Given the description of an element on the screen output the (x, y) to click on. 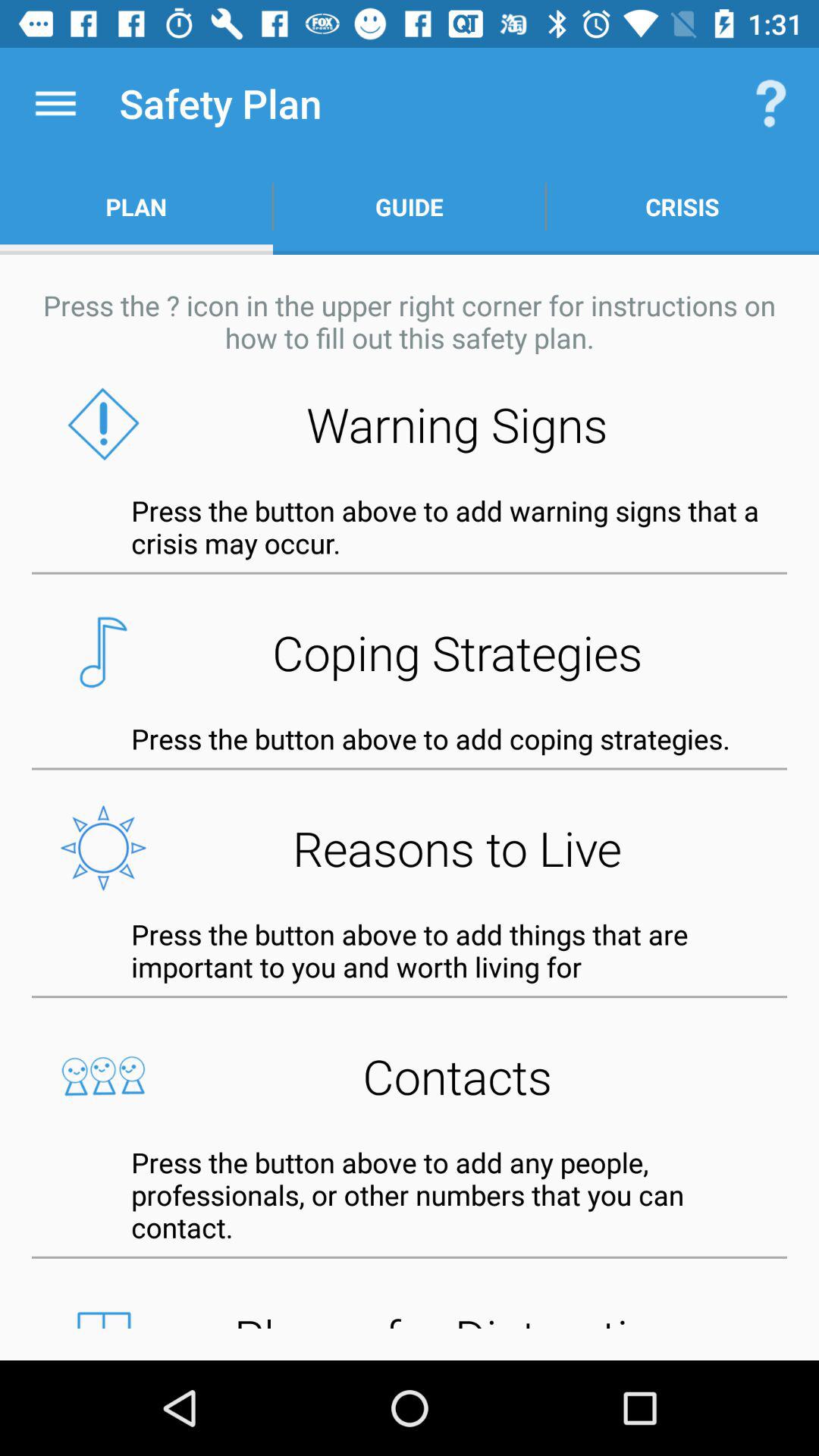
open the item above the press the button icon (409, 847)
